Given the description of an element on the screen output the (x, y) to click on. 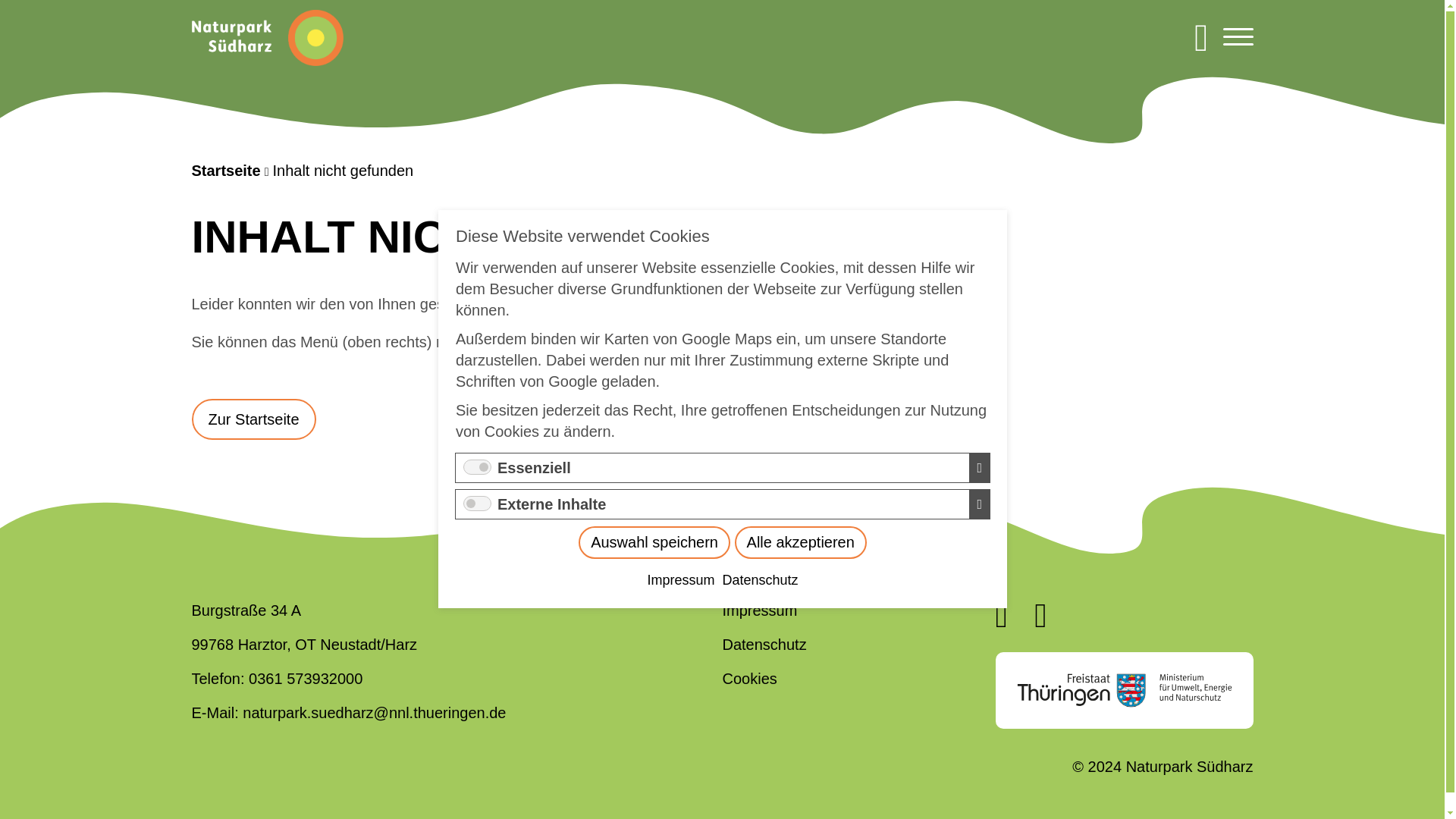
Alle akzeptieren (791, 458)
Auswahl speichern (771, 447)
Datenschutz (759, 499)
Impressum (726, 481)
